Given the description of an element on the screen output the (x, y) to click on. 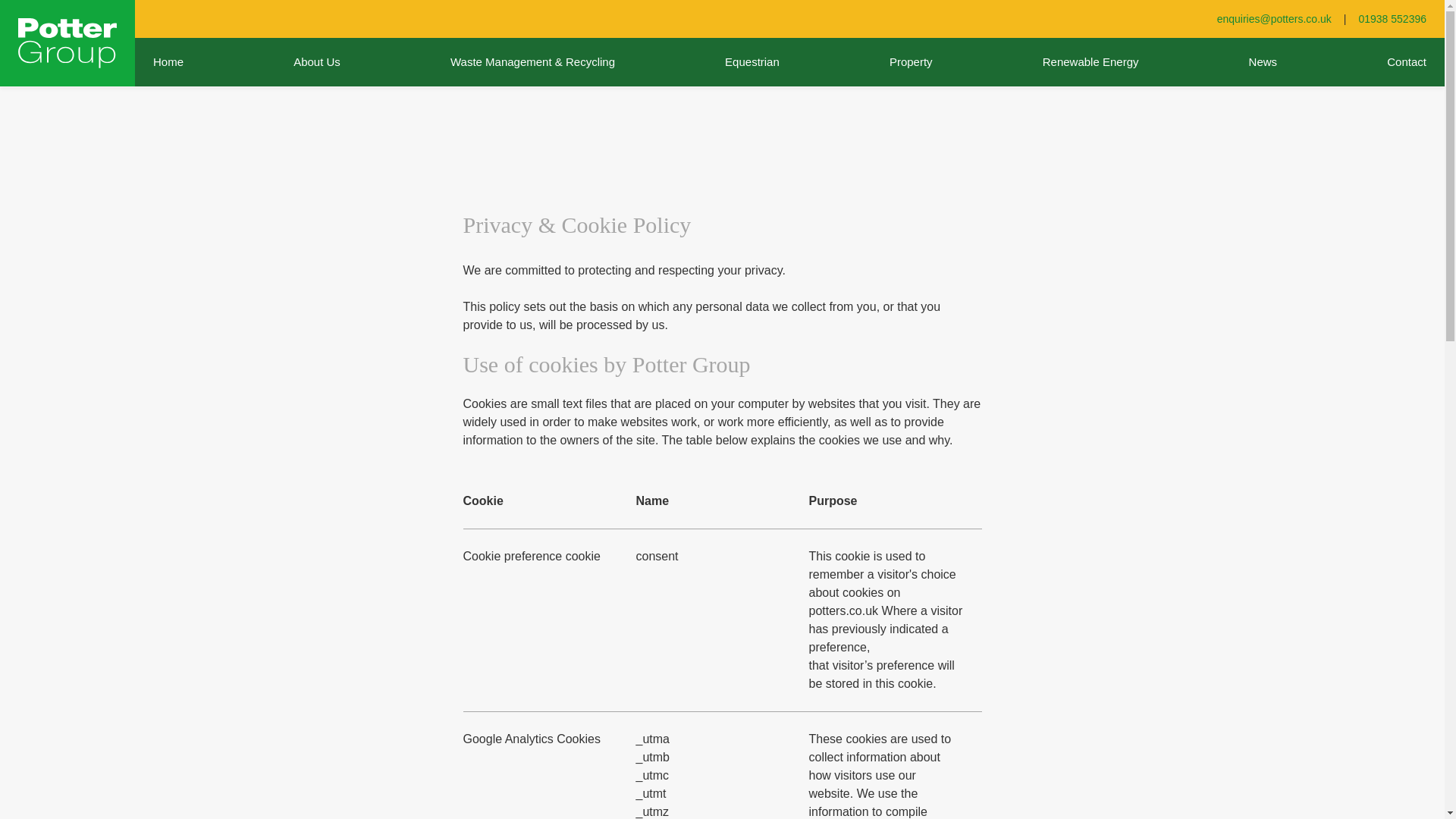
Contact (1406, 61)
Renewable Energy (1090, 61)
Property (911, 61)
About Us (316, 61)
Equestrian (752, 61)
01938 552396 (1392, 19)
